Given the description of an element on the screen output the (x, y) to click on. 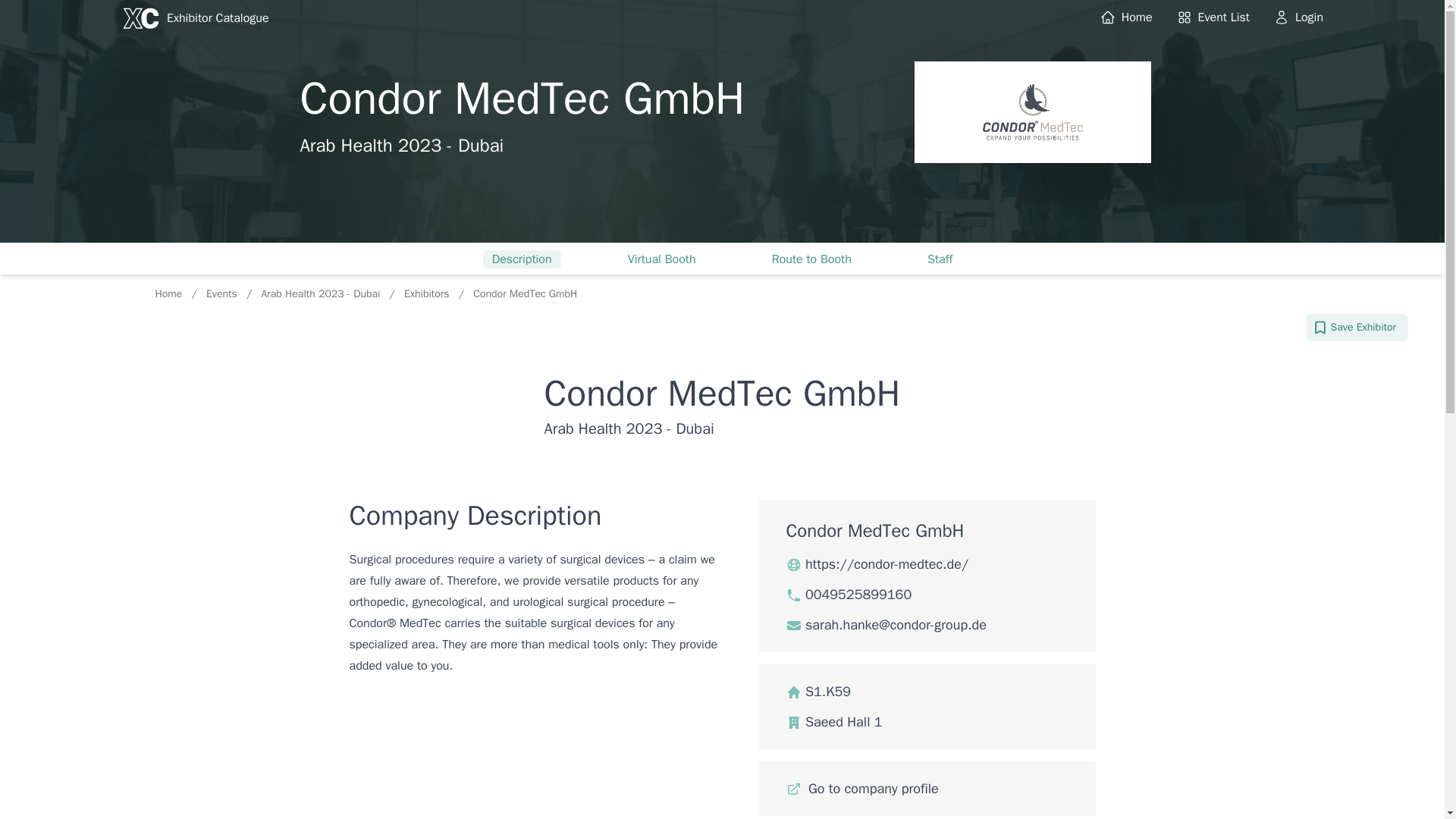
Staff (939, 259)
Arab Health 2023 - Dubai (321, 293)
Condor MedTec GmbH (524, 293)
0049525899160 (848, 594)
Route to Booth (811, 259)
Event List (1212, 16)
Home (1126, 16)
Login (1298, 16)
Events (223, 293)
Exhibitor Catalogue (194, 18)
